Given the description of an element on the screen output the (x, y) to click on. 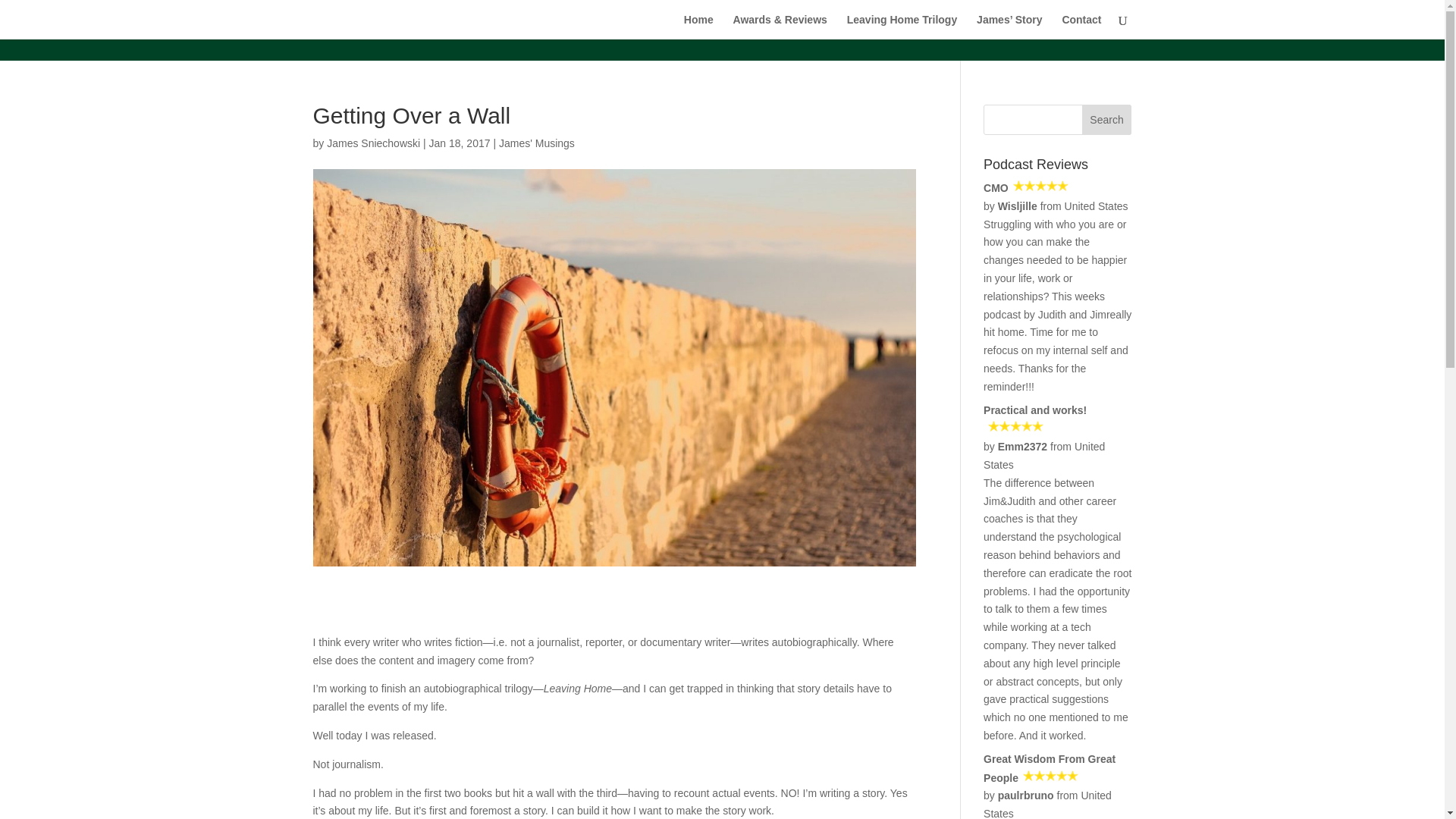
Search (1106, 119)
Search (1106, 119)
Contact (1080, 26)
James' Musings (537, 143)
Posts by James Sniechowski (373, 143)
Home (698, 26)
Leaving Home Trilogy (901, 26)
James Sniechowski (373, 143)
